Given the description of an element on the screen output the (x, y) to click on. 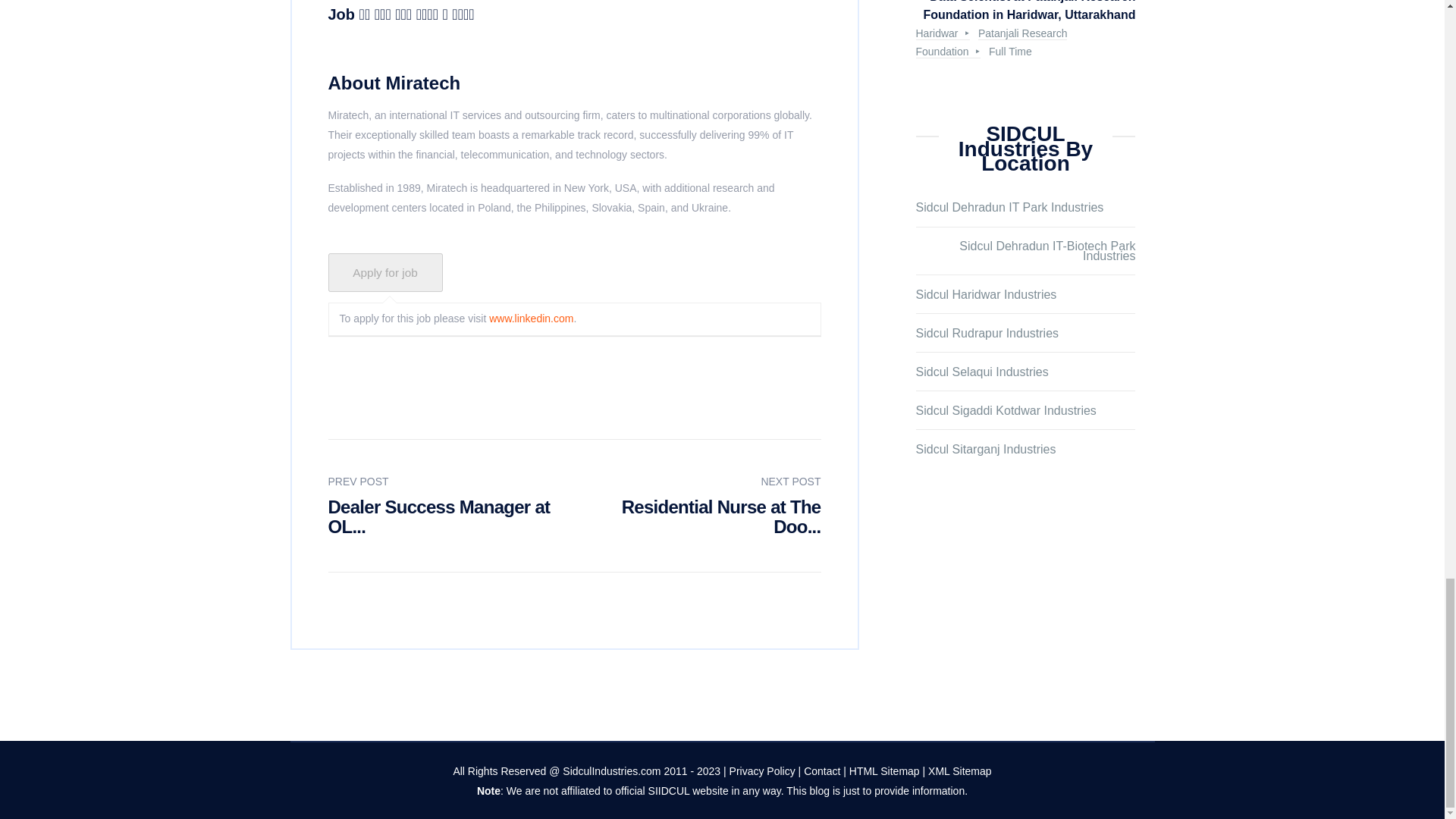
Rudrapur Industries (987, 334)
www.linkedin.com (531, 318)
Selaqui Pharma Industries (981, 372)
Sitarganj Industries (986, 450)
Sidcul Dehradun IT Park Industries (1009, 207)
Residential Nurse at The Doo... (721, 516)
Apply for job (384, 272)
Dealer Success Manager at OL... (438, 516)
Haridwar Industries (986, 295)
Sigaddi Kotdwar Industries (1005, 411)
